Given the description of an element on the screen output the (x, y) to click on. 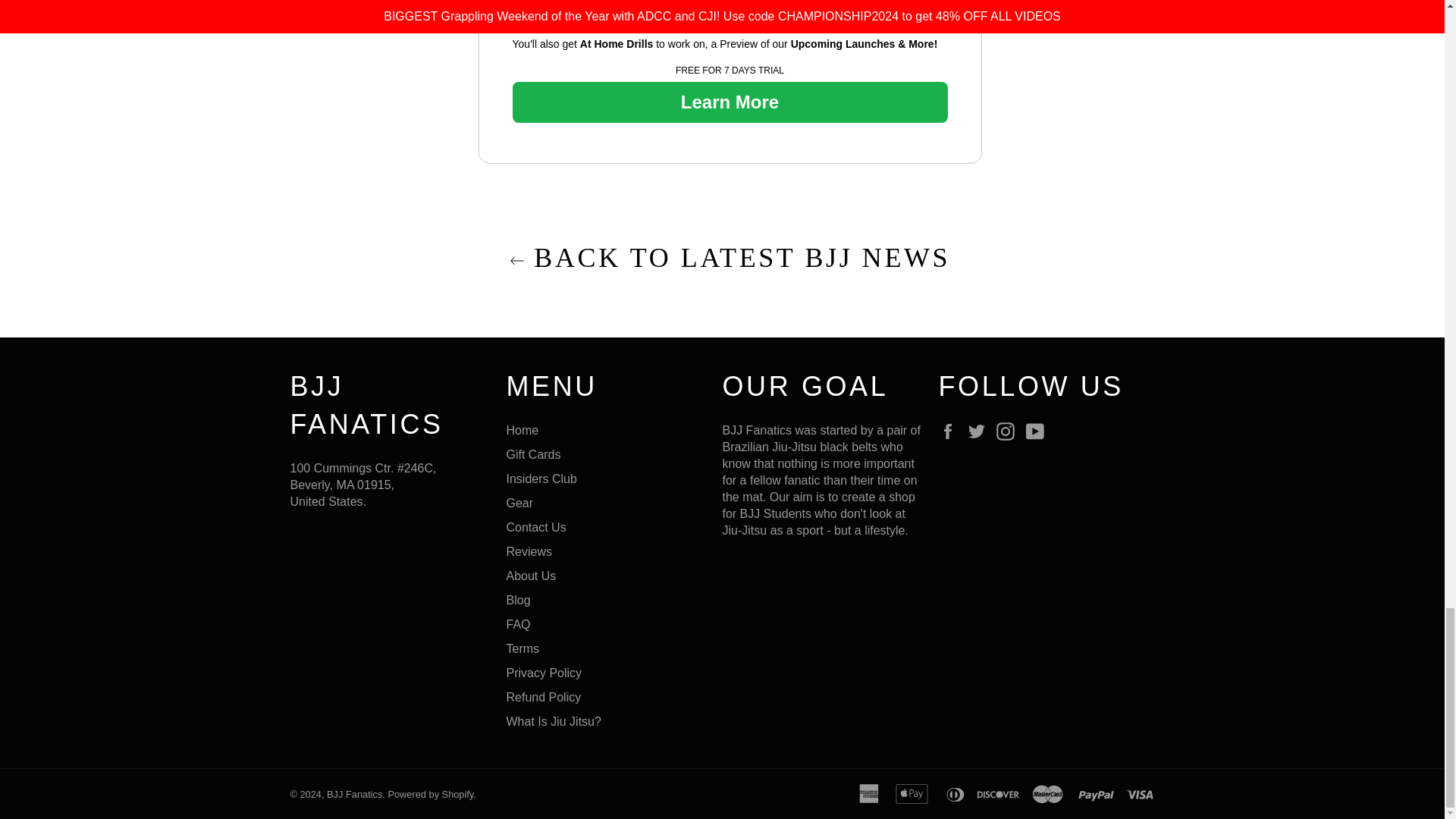
BJJ Fanatics on Instagram (1008, 431)
BJJ Fanatics on Facebook (951, 431)
BJJ Fanatics on Twitter (980, 431)
BJJ Fanatics on YouTube (1038, 431)
